Given the description of an element on the screen output the (x, y) to click on. 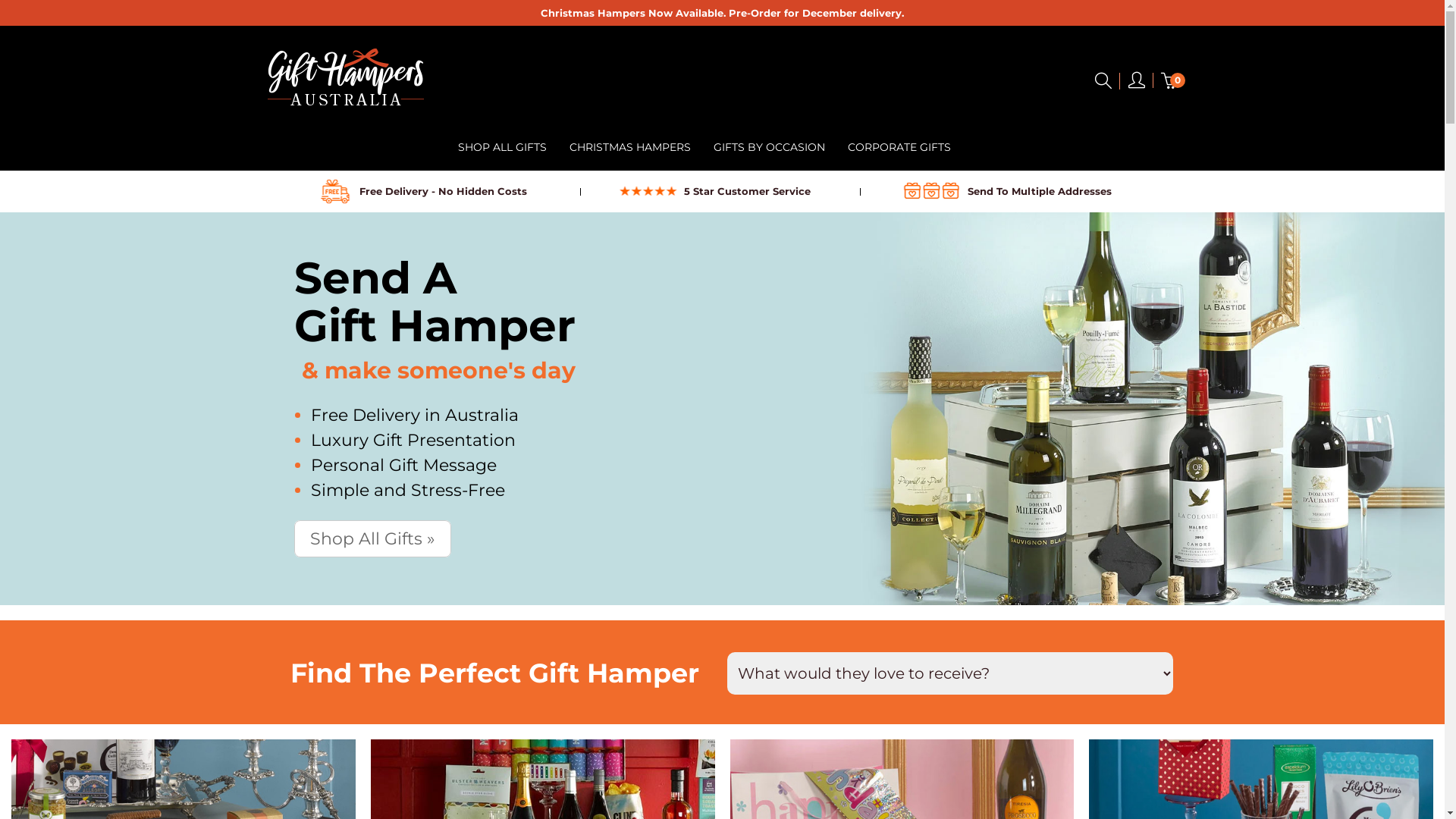
SHOP ALL GIFTS Element type: text (501, 146)
my account Element type: hover (1135, 83)
GIFTS BY OCCASION Element type: text (769, 146)
Gift Hampers Australia - Send a Gift to Australia Element type: hover (344, 75)
0 Element type: text (1168, 80)
CORPORATE GIFTS Element type: text (898, 146)
CHRISTMAS HAMPERS Element type: text (630, 146)
